Given the description of an element on the screen output the (x, y) to click on. 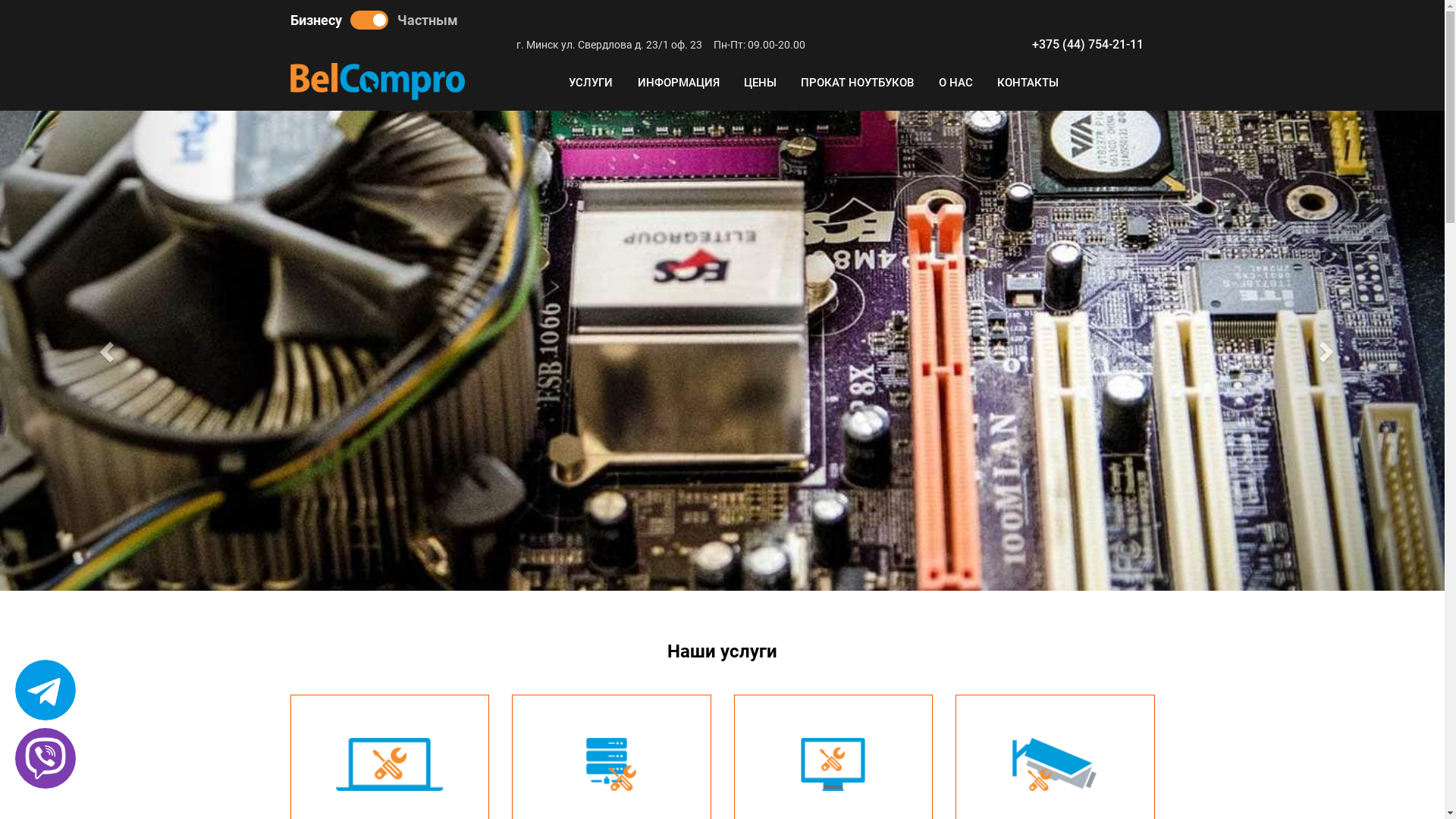
+375 (44) 754-21-11 Element type: text (1086, 44)
